Given the description of an element on the screen output the (x, y) to click on. 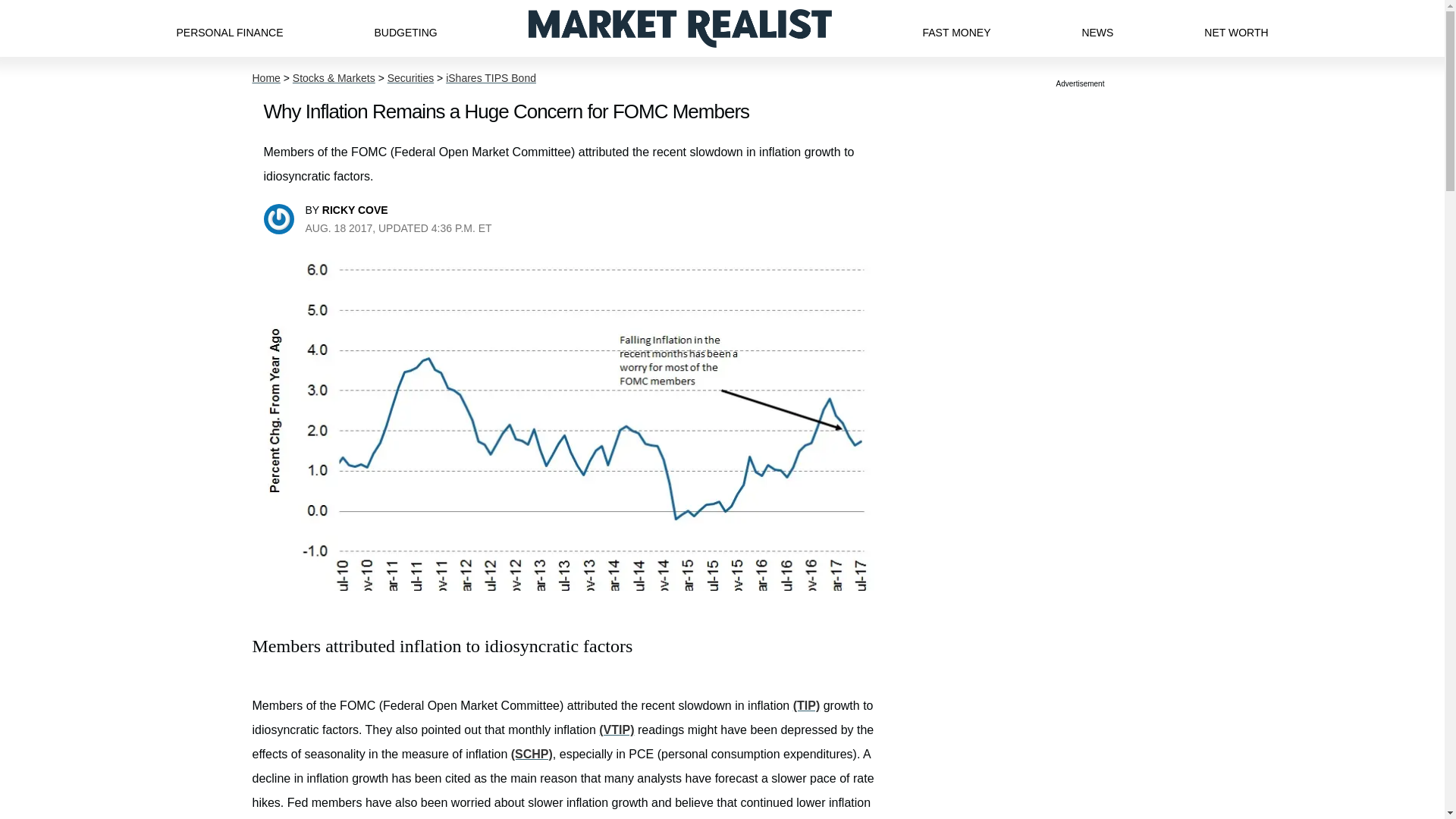
Securities (410, 78)
BUDGETING (405, 27)
NEWS (1097, 27)
iShares TIPS Bond (490, 78)
PERSONAL FINANCE (229, 27)
NET WORTH (1236, 27)
Home (265, 78)
RICKY COVE (354, 209)
FAST MONEY (955, 27)
